Given the description of an element on the screen output the (x, y) to click on. 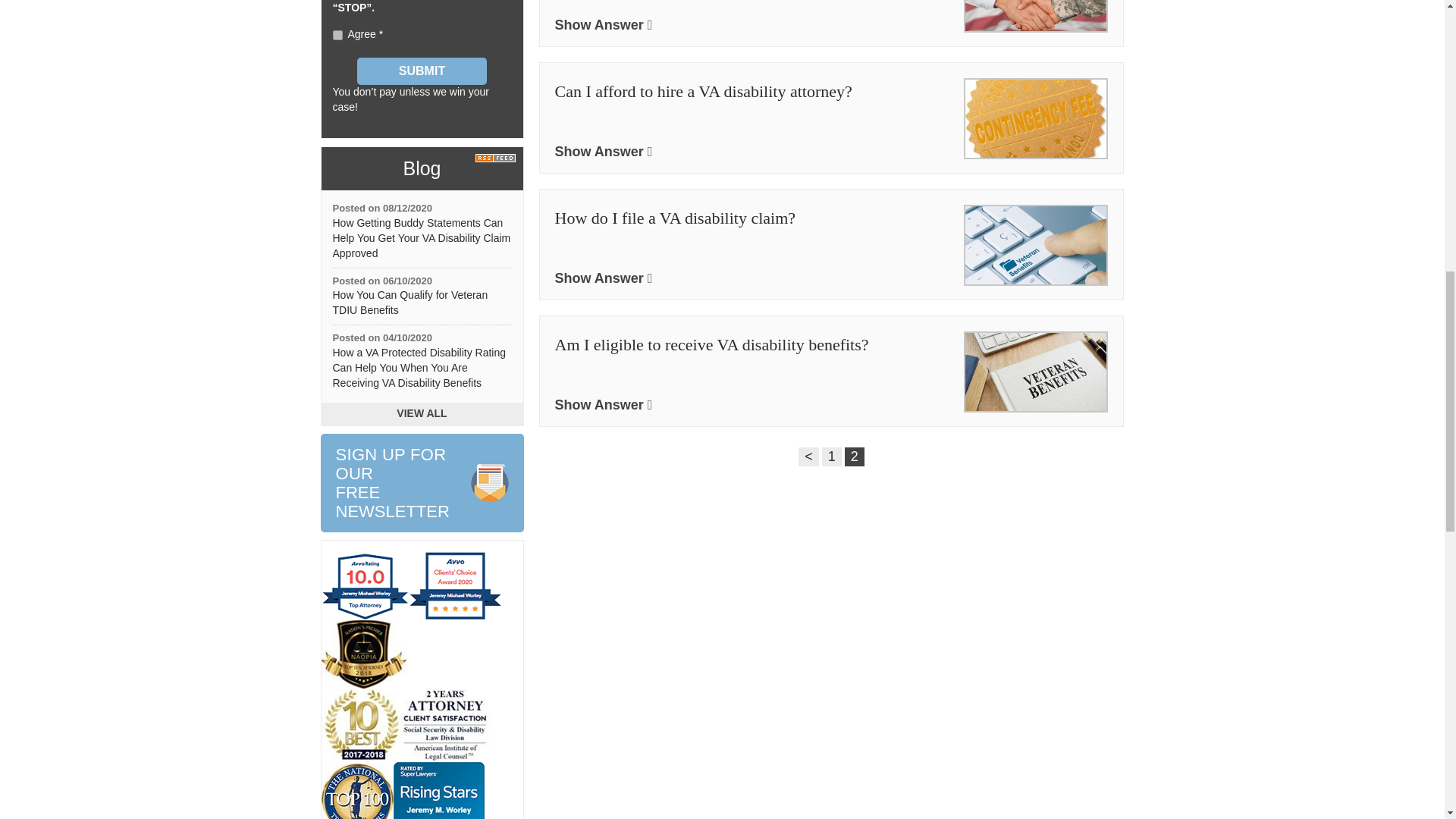
Blog (421, 168)
Subscribe to our RSS Feed (498, 157)
SUBMIT (421, 483)
VIEW ALL (421, 71)
How You Can Qualify for Veteran TDIU Benefits (421, 413)
Agree (409, 302)
